Given the description of an element on the screen output the (x, y) to click on. 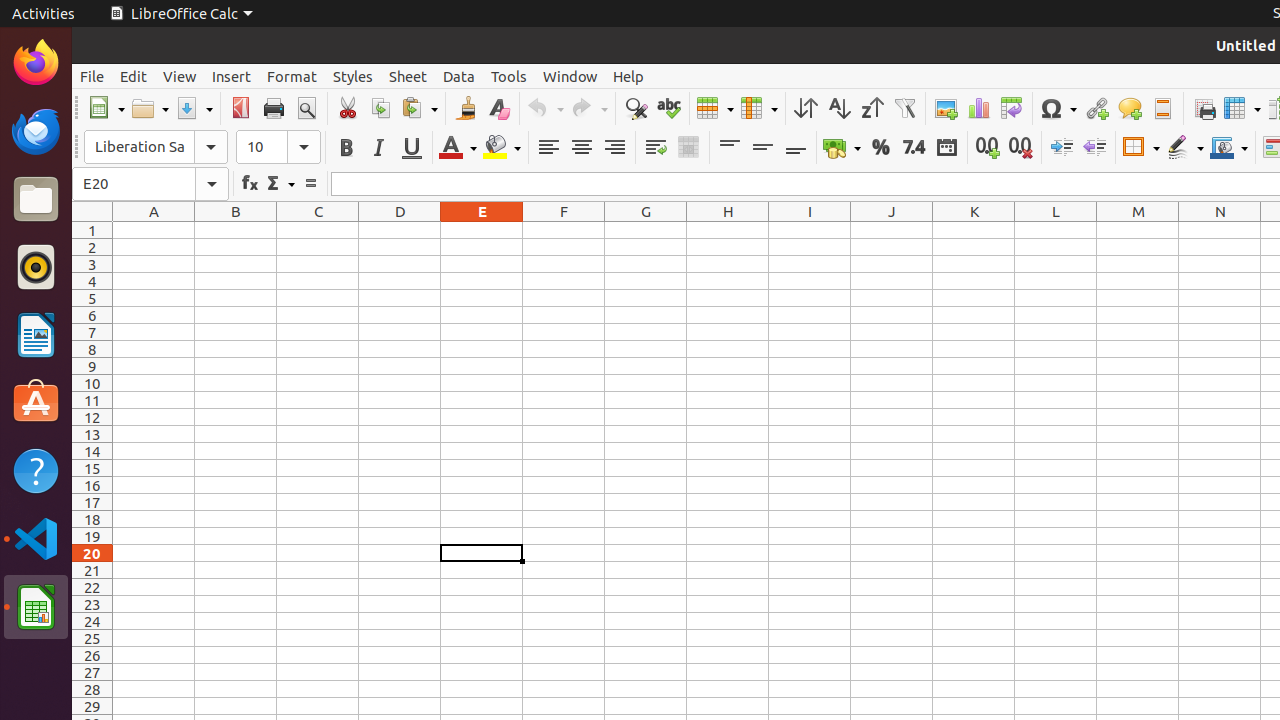
Styles Element type: menu (353, 76)
E1 Element type: table-cell (482, 230)
Files Element type: push-button (36, 199)
Sort Ascending Element type: push-button (838, 108)
